Given the description of an element on the screen output the (x, y) to click on. 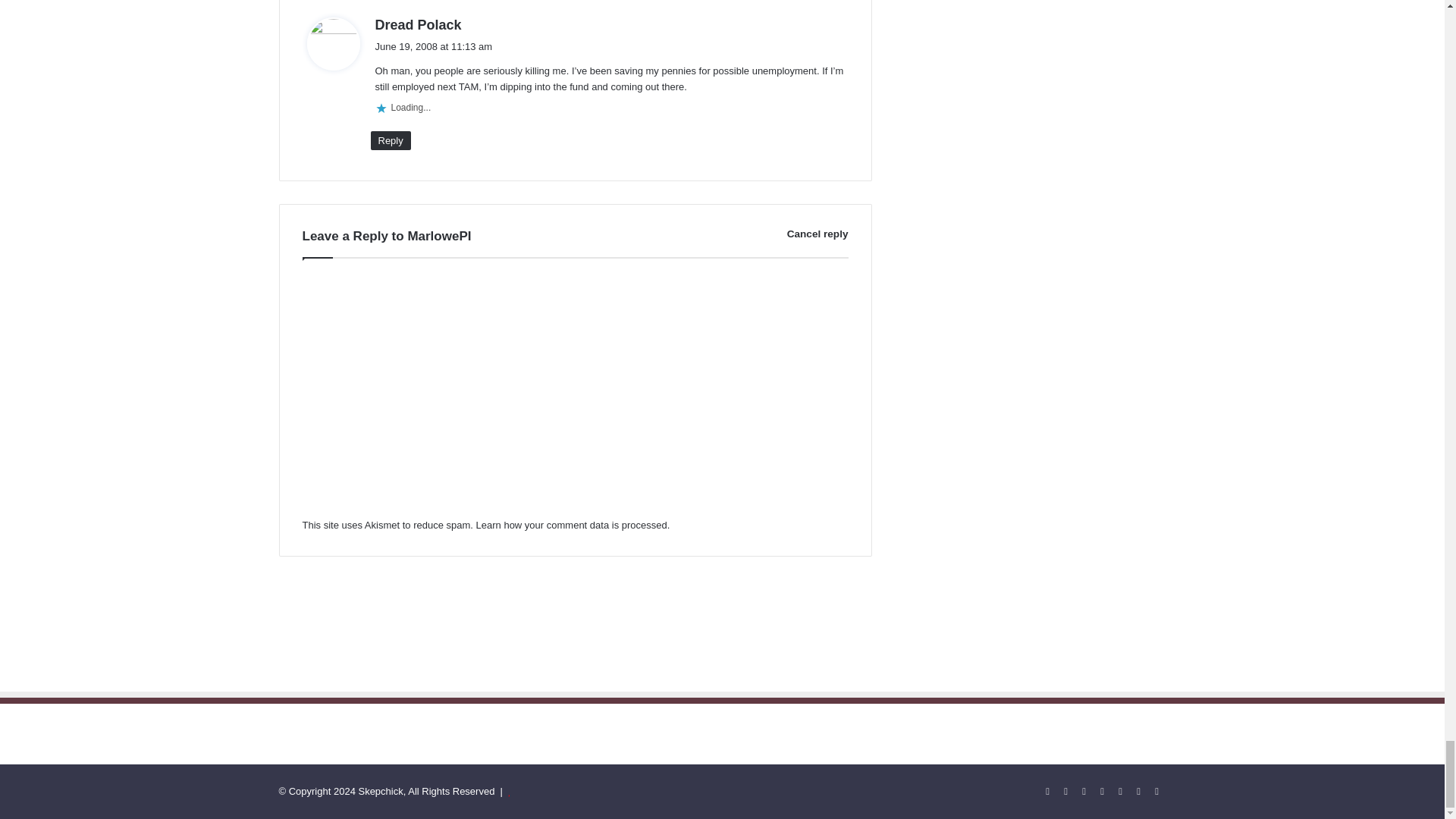
Comment Form (574, 392)
